Given the description of an element on the screen output the (x, y) to click on. 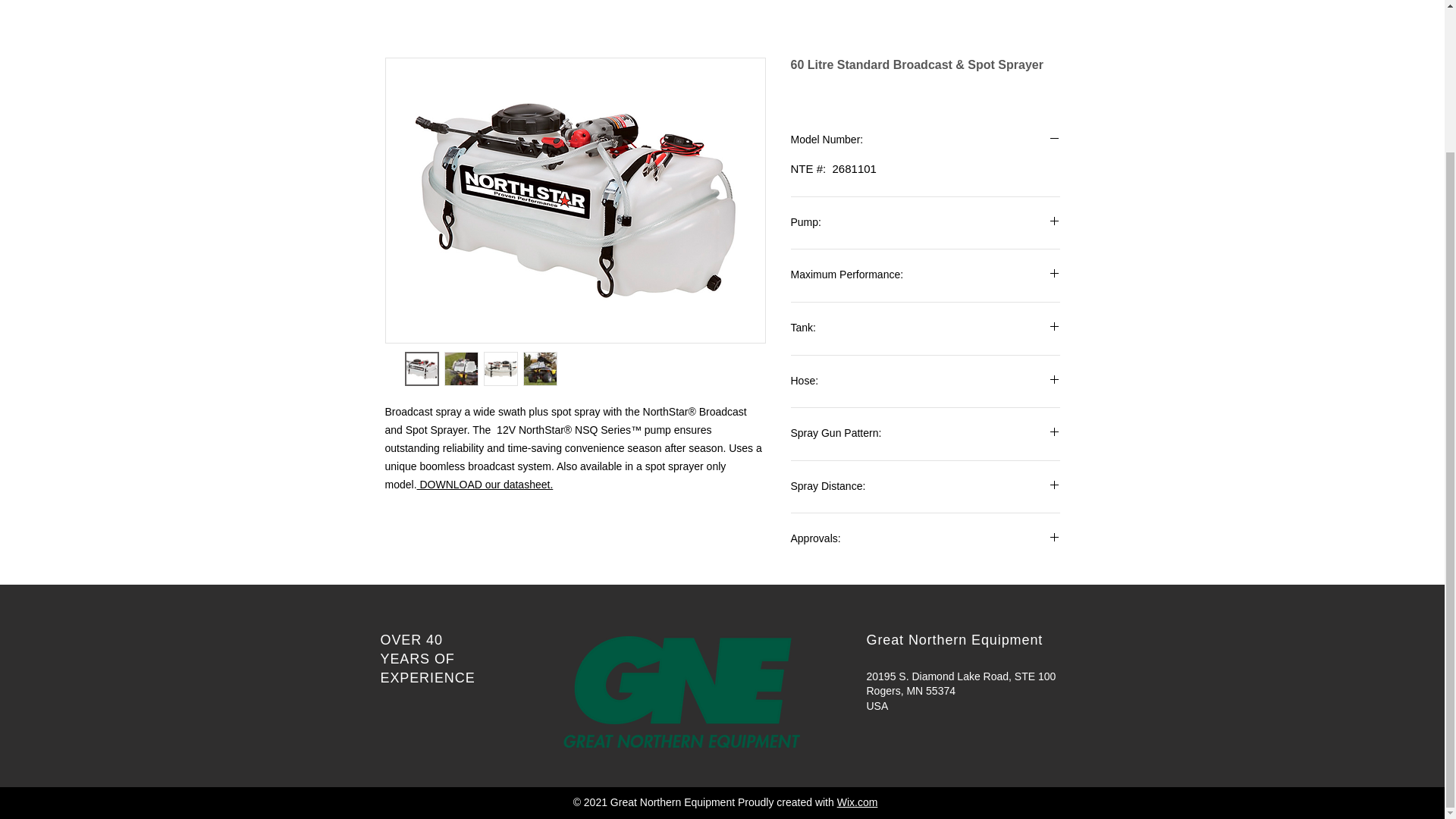
Hose: (924, 381)
Pump: (924, 222)
 DOWNLOAD our datasheet. (484, 484)
Spray Gun Pattern: (924, 433)
Wix.com (857, 802)
Model Number: (924, 140)
Approvals: (924, 539)
Spray Distance: (924, 487)
Maximum Performance: (924, 275)
Tank: (924, 328)
